Given the description of an element on the screen output the (x, y) to click on. 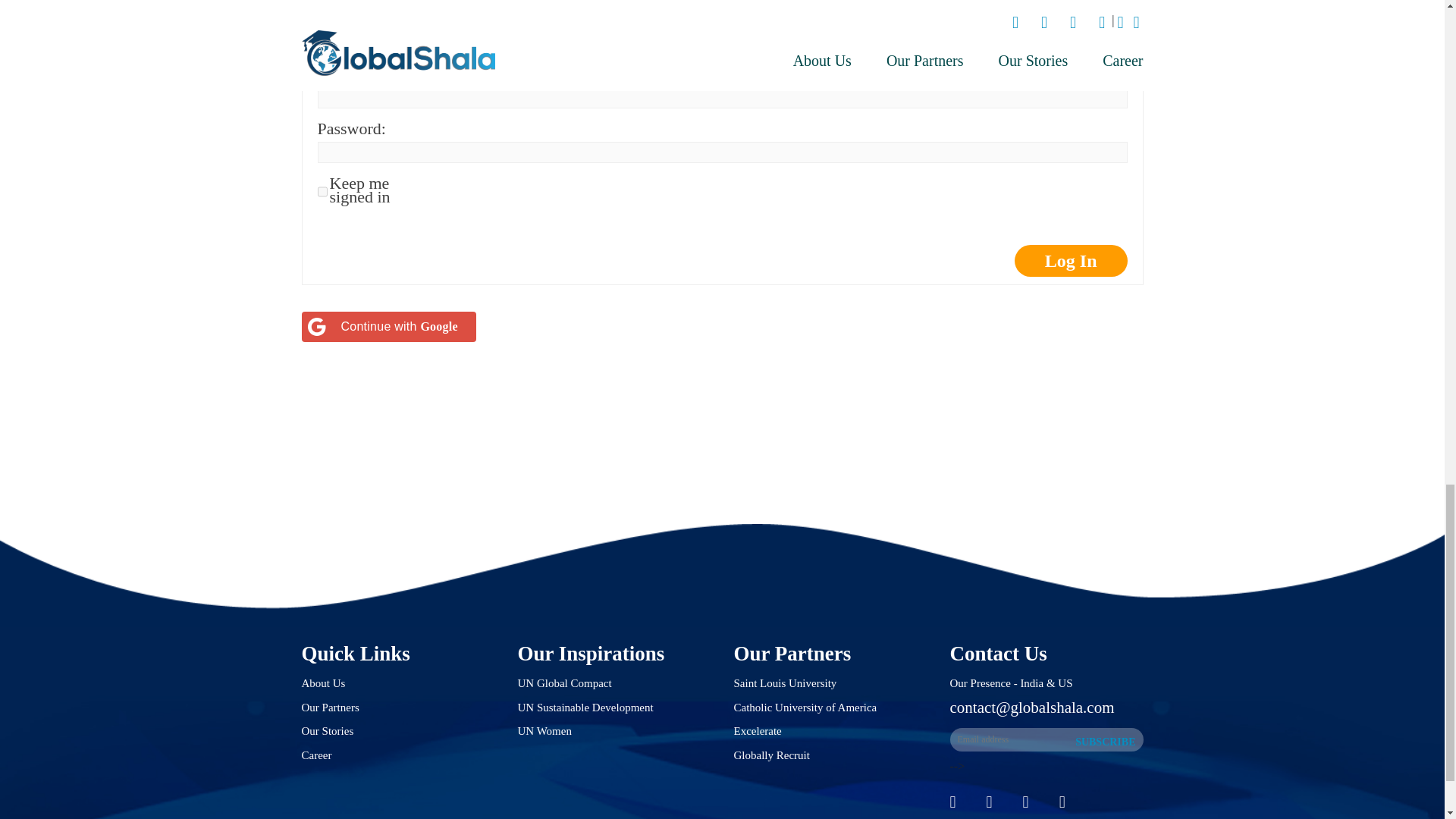
About Us (323, 683)
Subscribe (1104, 741)
UN Sustainable Development (584, 707)
Our Stories (327, 730)
UN Global Compact (563, 683)
UN Women (543, 730)
Saint Louis University (785, 683)
Log In (1070, 260)
Continue with Google (388, 327)
Our Partners (330, 707)
Career (316, 755)
